Given the description of an element on the screen output the (x, y) to click on. 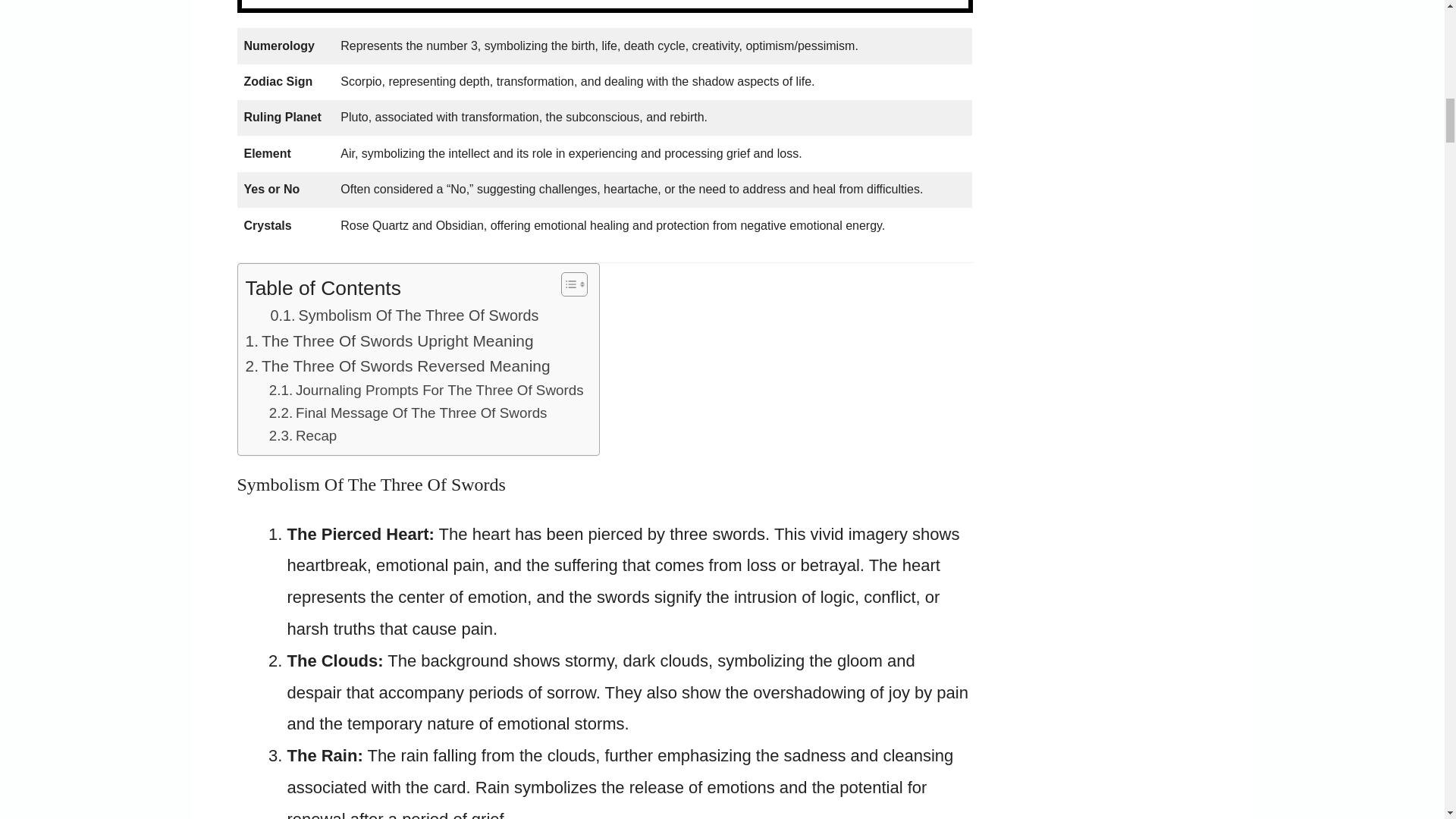
Final Message Of The Three Of Swords (408, 413)
The Three Of Swords Reversed Meaning (398, 365)
Final Message Of The Three Of Swords (408, 413)
Recap (302, 436)
The Three Of Swords Upright Meaning (390, 340)
The Three Of Swords Upright Meaning (390, 340)
The Three Of Swords Reversed Meaning (398, 365)
Journaling Prompts For The Three Of Swords (426, 390)
Symbolism Of The Three Of Swords (403, 315)
Symbolism Of The Three Of Swords (403, 315)
